Given the description of an element on the screen output the (x, y) to click on. 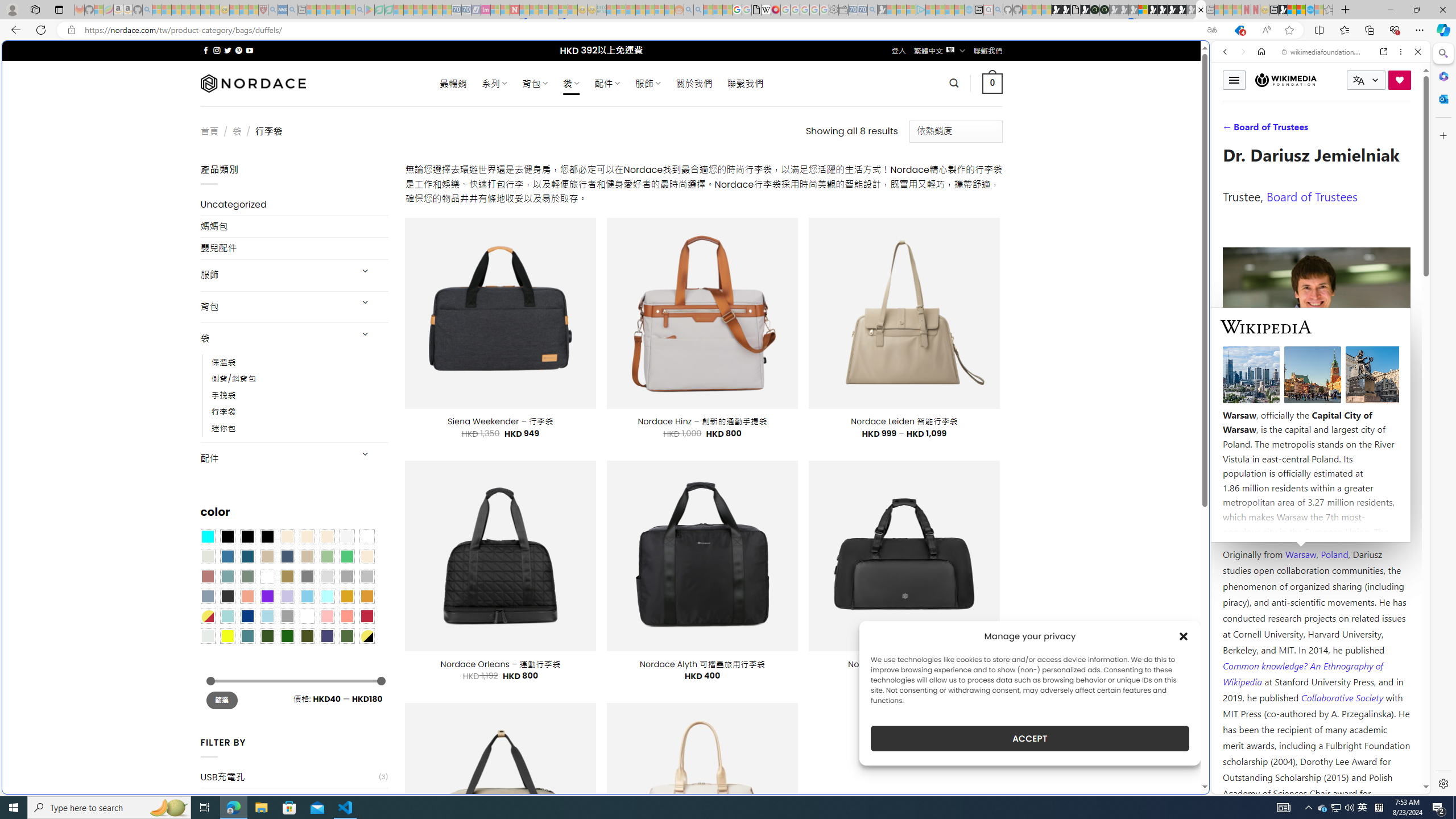
Follow on Twitter (227, 50)
Collaborative Society  (1343, 697)
Wiktionary (1315, 380)
